Given the description of an element on the screen output the (x, y) to click on. 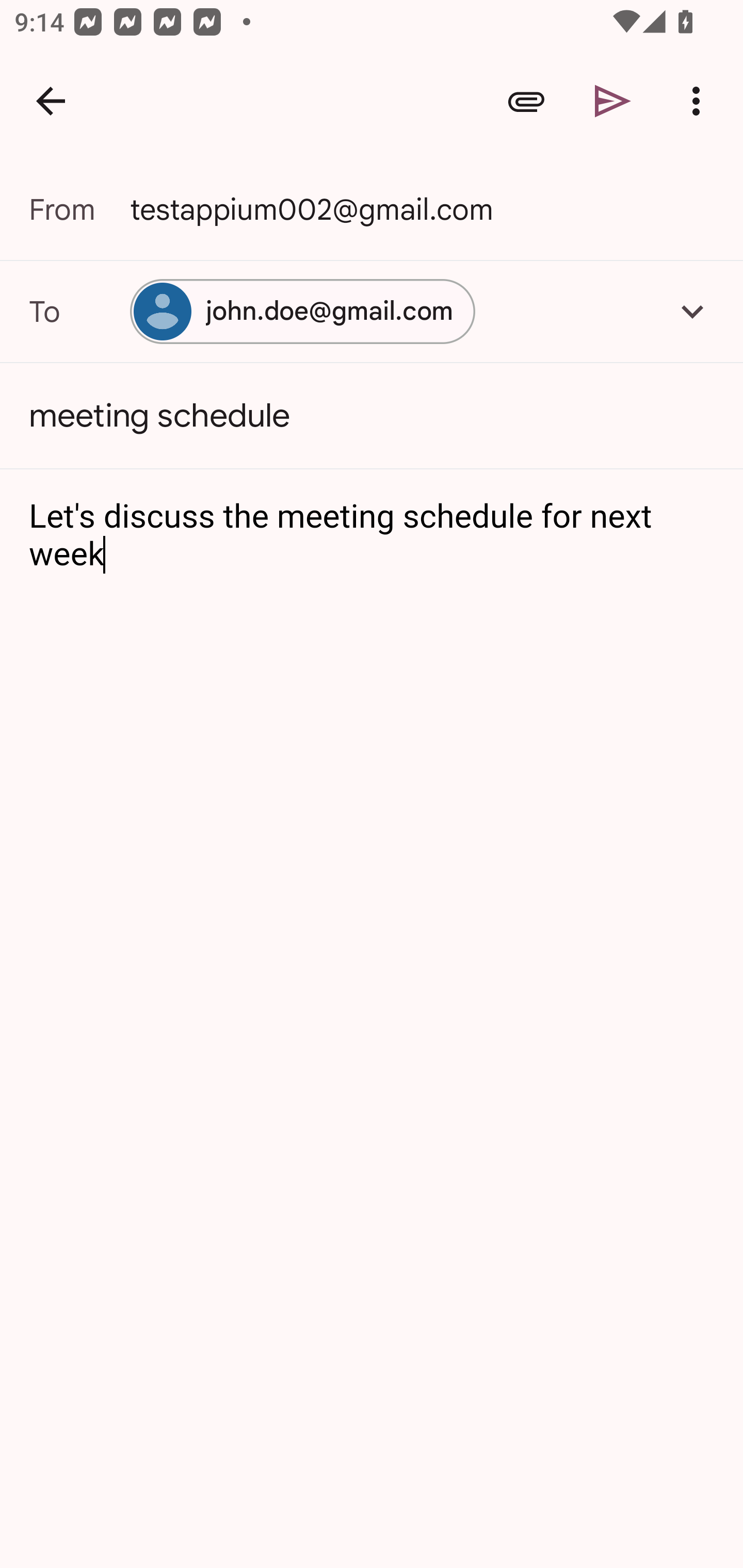
Navigate up (50, 101)
Attach file (525, 101)
Send (612, 101)
More options (699, 101)
From (79, 209)
Add Cc/Bcc (692, 311)
meeting schedule (371, 415)
Let's discuss the meeting schedule for next week (372, 535)
